Given the description of an element on the screen output the (x, y) to click on. 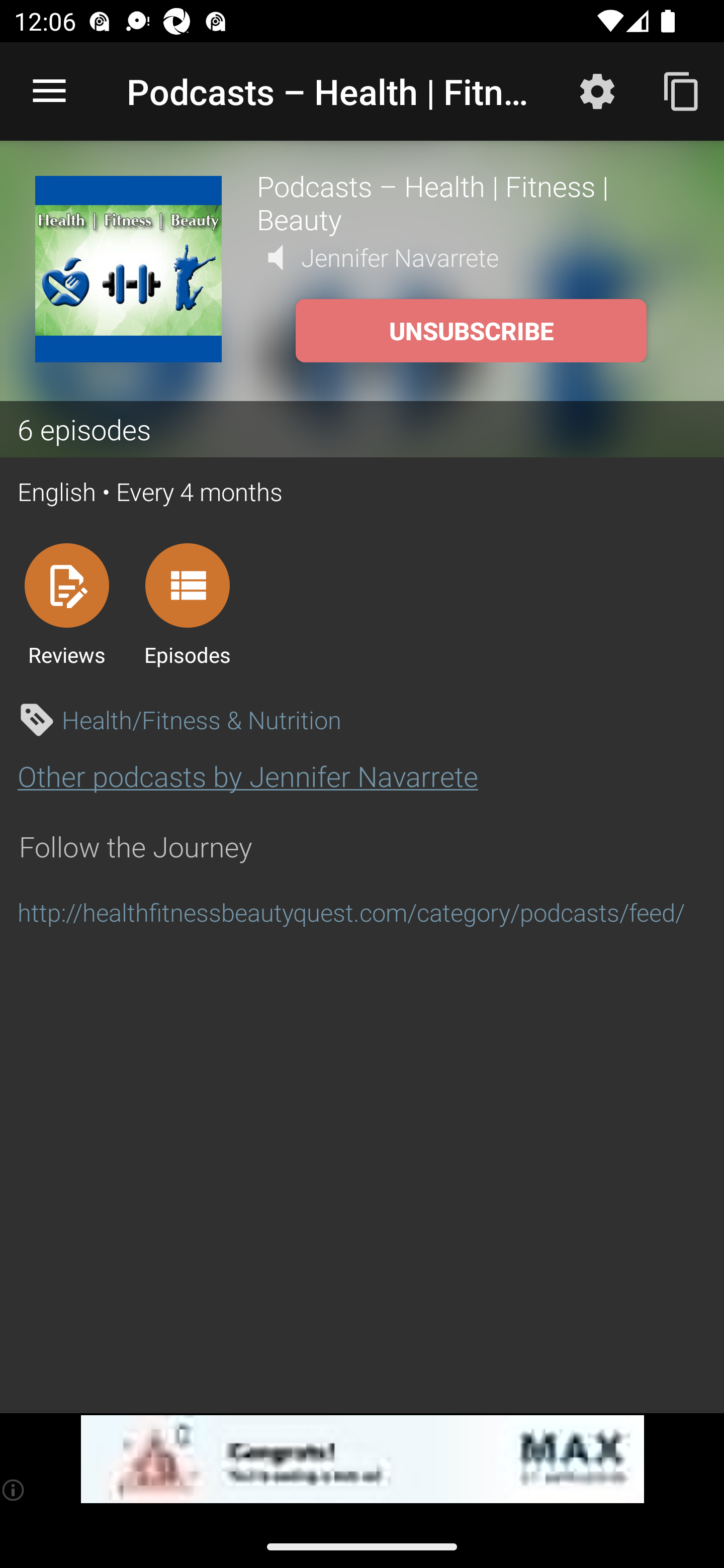
Open navigation sidebar (49, 91)
Settings (597, 90)
Copy feed url to clipboard (681, 90)
Podcasts – Health | Fitness | Beauty (472, 202)
UNSUBSCRIBE (470, 330)
Reviews (66, 604)
Episodes (187, 604)
Other podcasts by Jennifer Navarrete (247, 775)
app-monetization (362, 1459)
(i) (14, 1489)
